Given the description of an element on the screen output the (x, y) to click on. 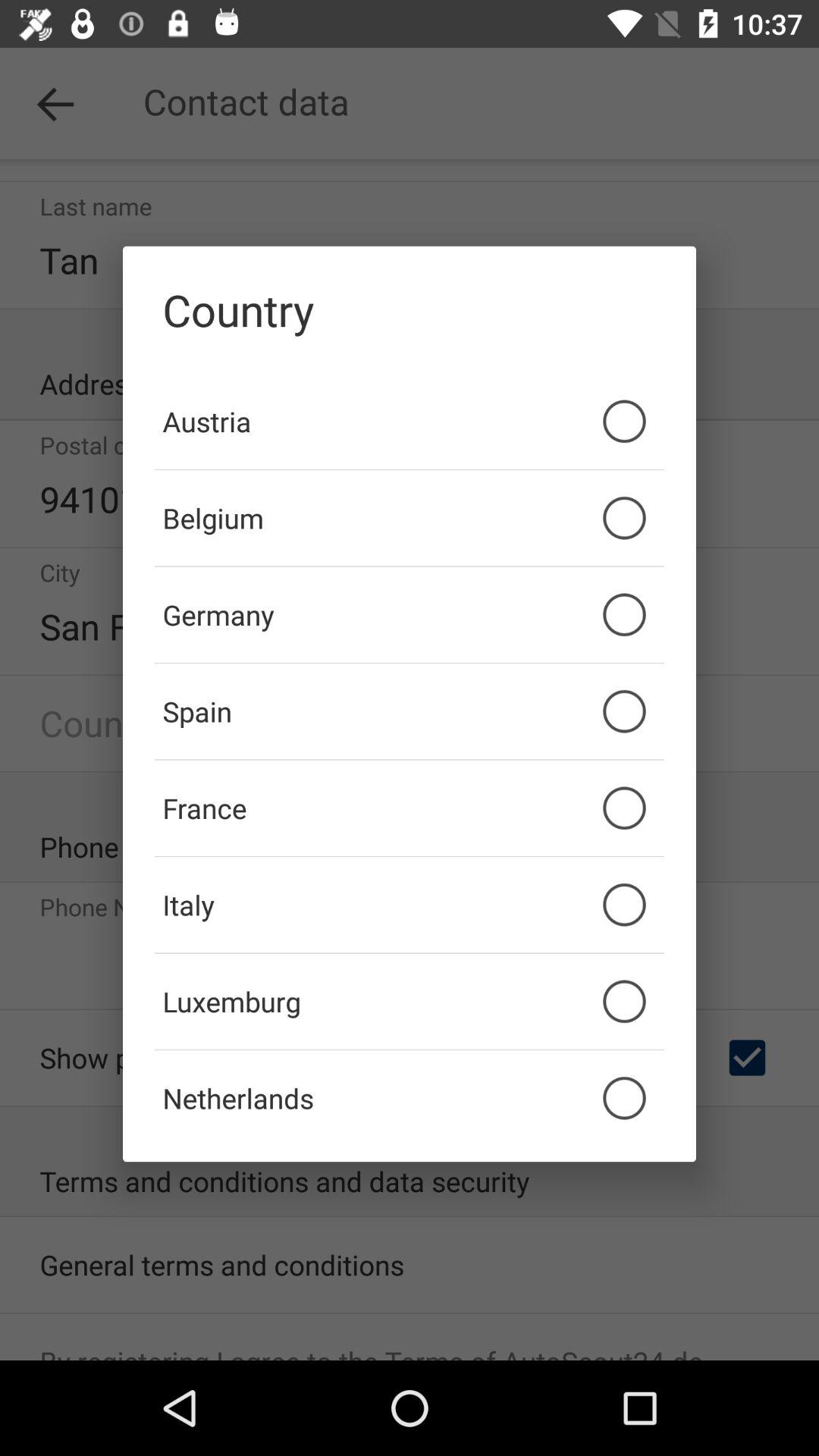
jump until the italy item (409, 904)
